Given the description of an element on the screen output the (x, y) to click on. 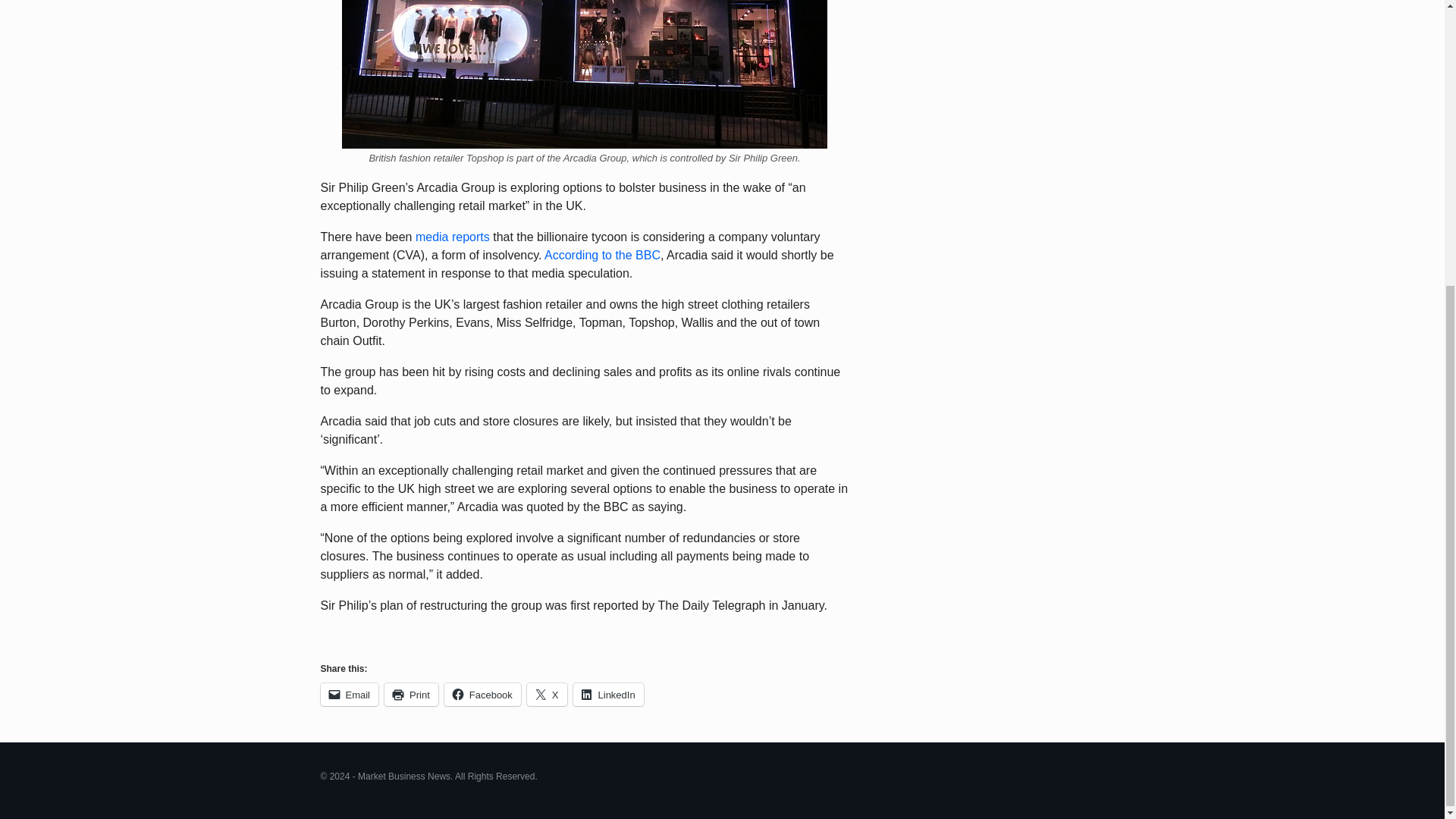
LinkedIn (608, 694)
media reports (451, 236)
Click to share on LinkedIn (608, 694)
According to the BBC (602, 254)
Click to share on Facebook (482, 694)
Email (349, 694)
Click to share on X (547, 694)
Click to email a link to a friend (349, 694)
X (547, 694)
Click to print (411, 694)
